Given the description of an element on the screen output the (x, y) to click on. 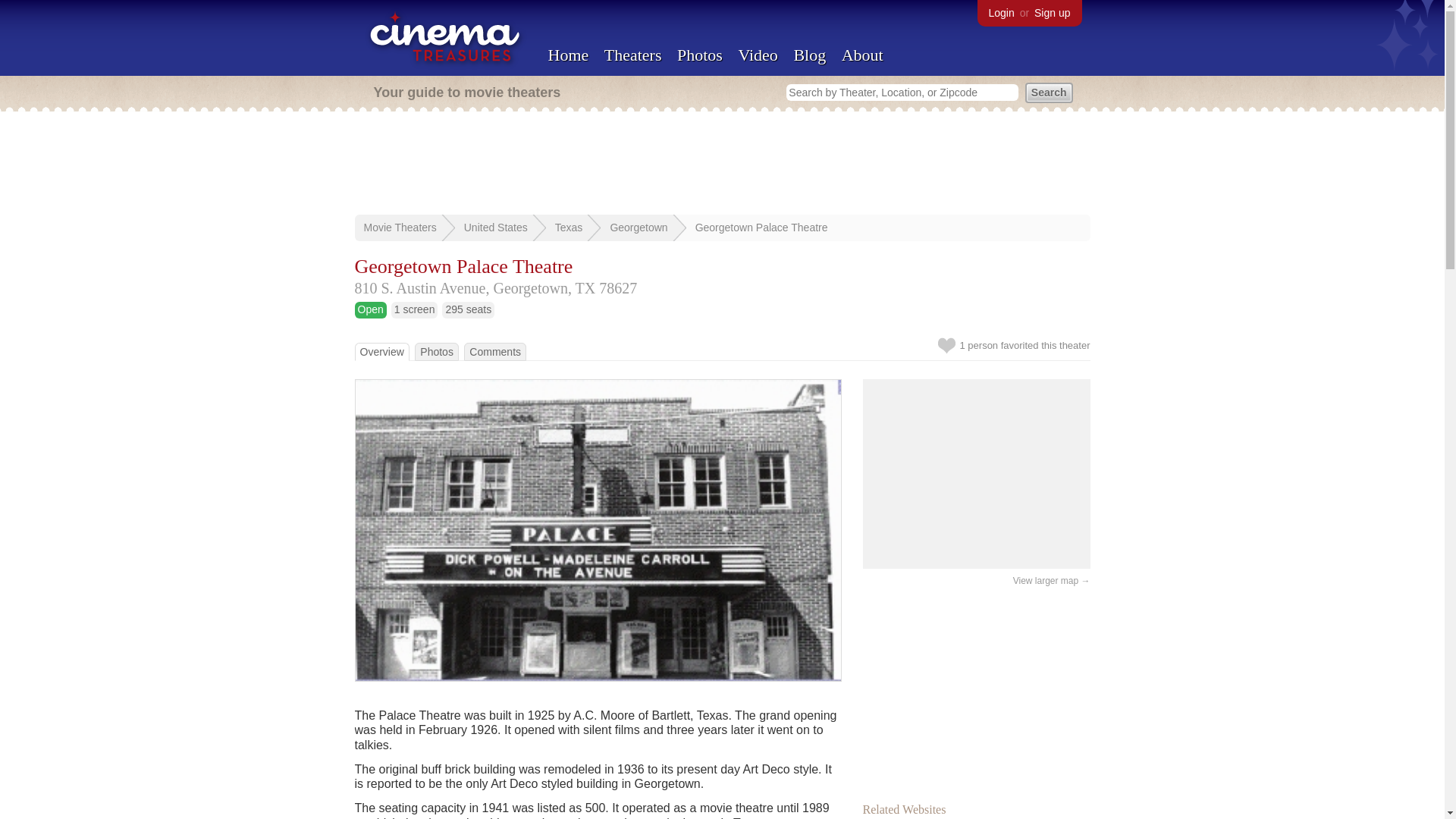
Advertisement (722, 164)
Home (567, 54)
Photos (699, 54)
Photos (436, 351)
Search (1049, 92)
Video (757, 54)
Blog (809, 54)
Comments (494, 351)
Georgetown (638, 227)
About (862, 54)
Texas (568, 227)
Login (1001, 12)
Advertisement (976, 690)
Georgetown Palace Theatre (761, 227)
Open (371, 309)
